Given the description of an element on the screen output the (x, y) to click on. 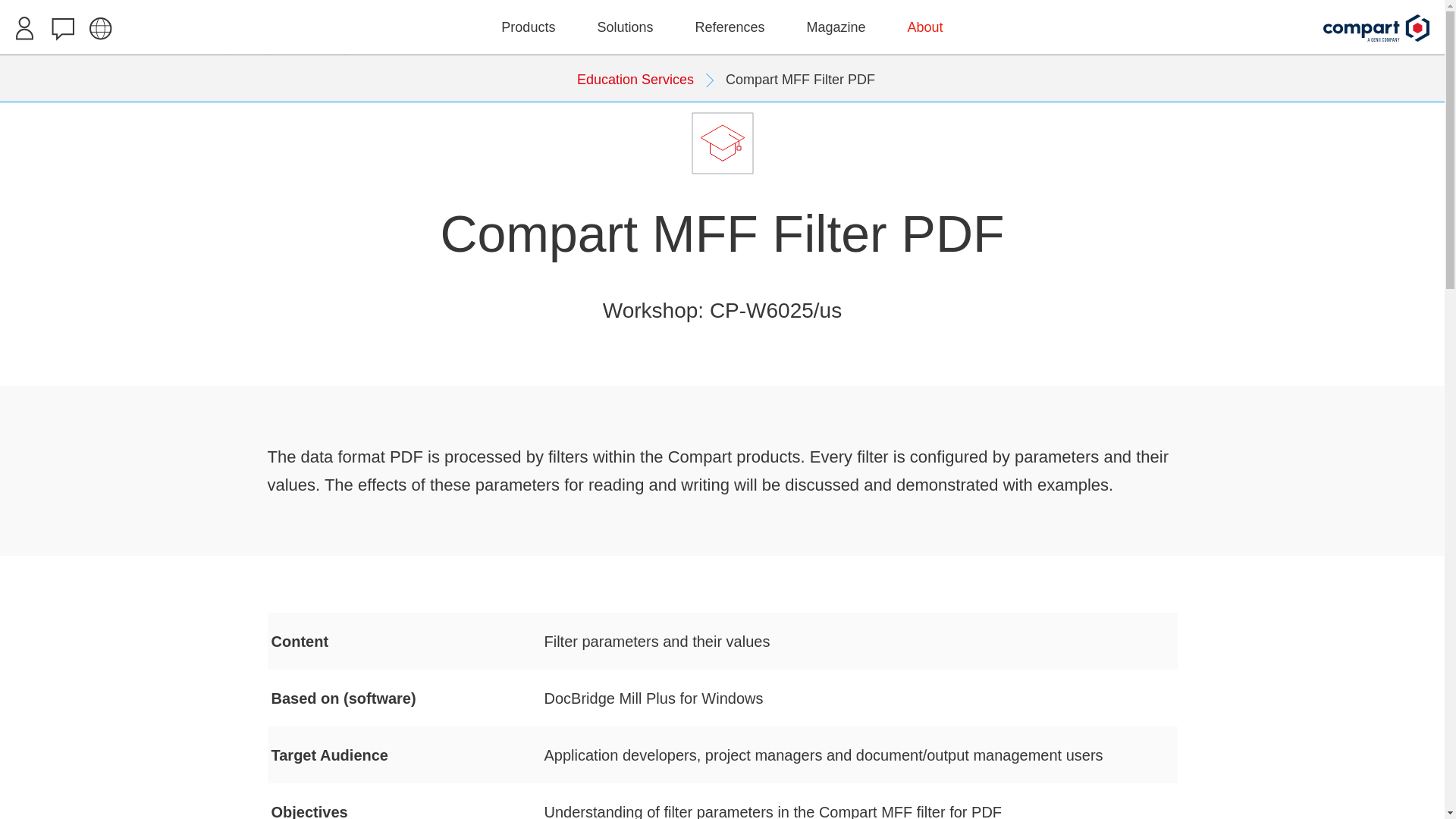
Compart - Document Management and Output Management (1376, 27)
Solutions (624, 27)
Products (527, 27)
Request access here (722, 7)
Education Services (644, 79)
